Given the description of an element on the screen output the (x, y) to click on. 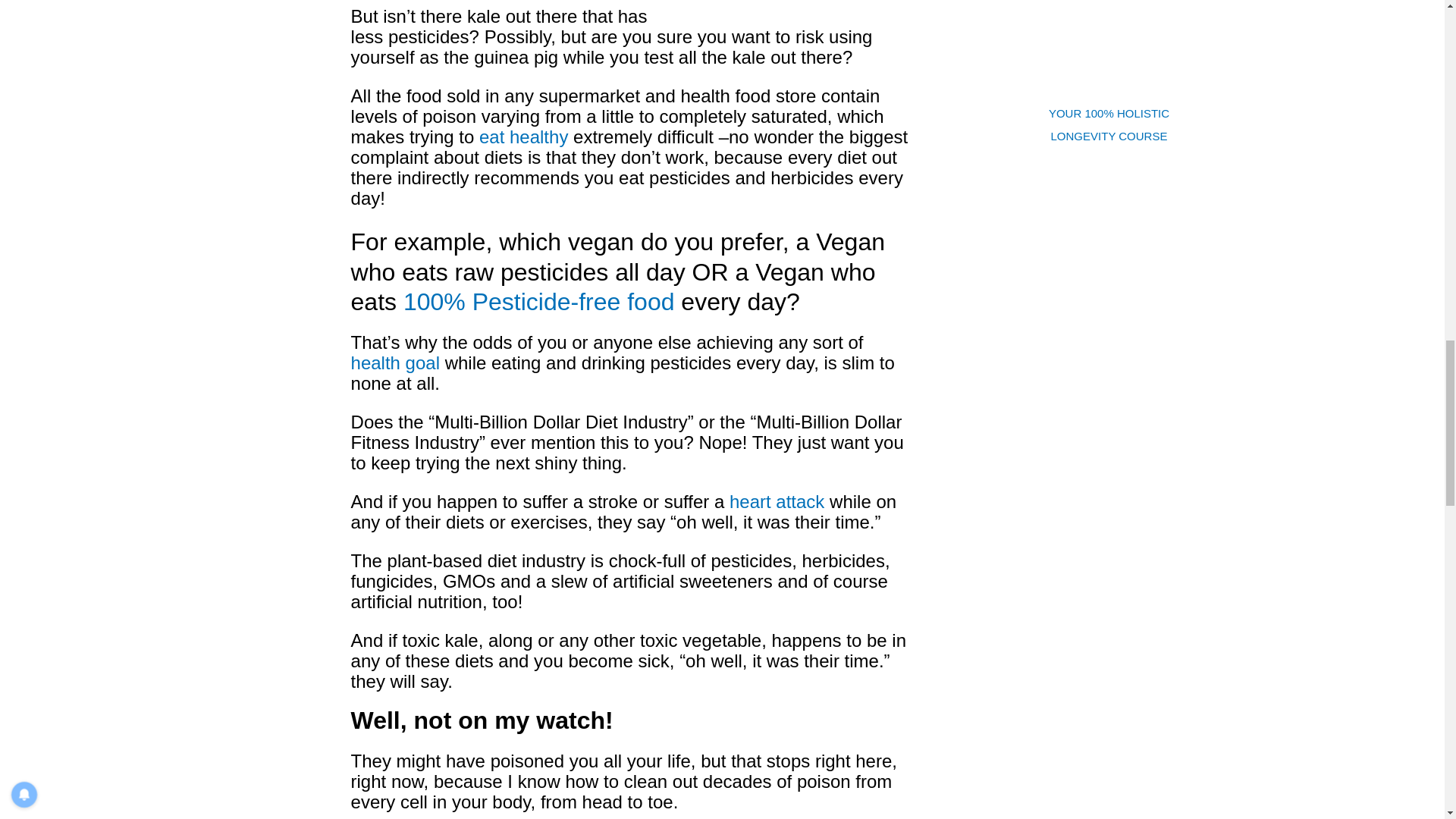
Toxic Kale 9 (797, 9)
health goal (394, 362)
health goal (394, 362)
eat healthy (523, 136)
eat healthy (523, 136)
heart attack (776, 501)
heart attack (776, 501)
diets or exercises (516, 521)
diets or exercises (516, 521)
LONGEVITY COURSE (1109, 135)
